Given the description of an element on the screen output the (x, y) to click on. 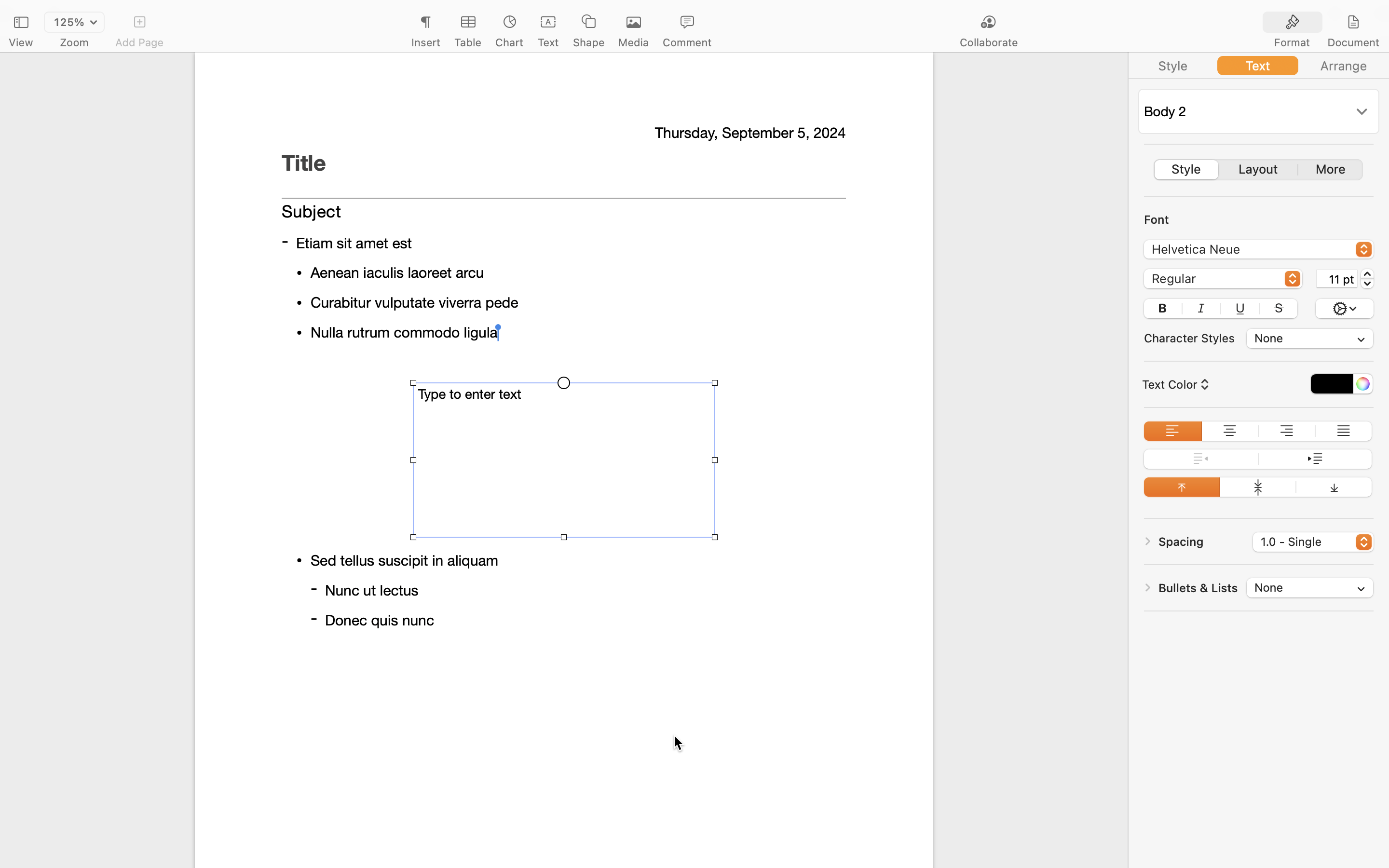
Bullets & Lists Element type: AXStaticText (1197, 587)
Regular Element type: AXPopUpButton (1223, 280)
